Given the description of an element on the screen output the (x, y) to click on. 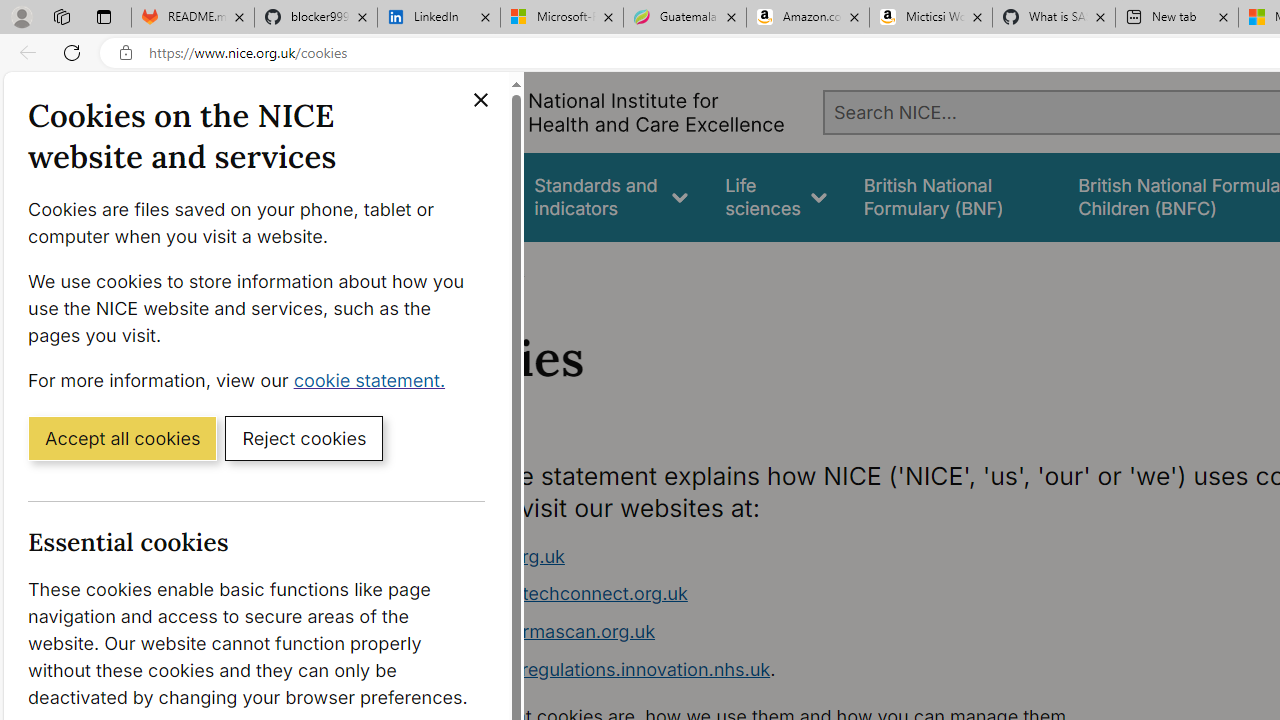
Accept all cookies (122, 437)
false (952, 196)
www.digitalregulations.innovation.nhs.uk (595, 668)
www.digitalregulations.innovation.nhs.uk. (796, 669)
About (498, 268)
Close cookie banner (480, 99)
About (498, 268)
Life sciences (776, 196)
Reject cookies (304, 437)
Guidance (458, 196)
